Given the description of an element on the screen output the (x, y) to click on. 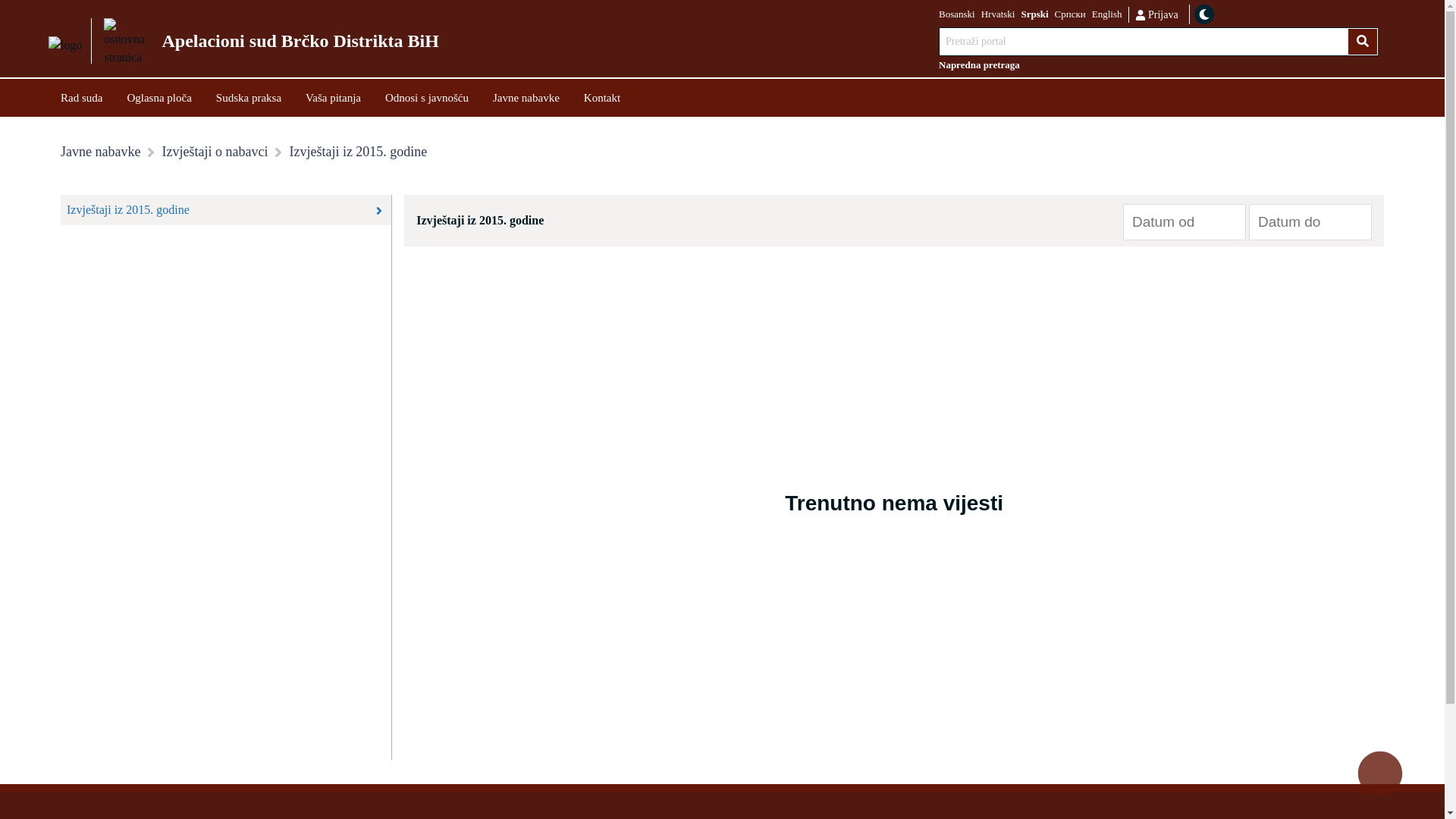
Rad suda Element type: text (81, 97)
Javne nabavke Element type: text (100, 151)
Kontakt Element type: text (601, 97)
Napredna pretraga Element type: text (1157, 65)
Sudska praksa Element type: text (248, 97)
Javne nabavke Element type: text (525, 97)
Prijava Element type: text (1155, 13)
